Given the description of an element on the screen output the (x, y) to click on. 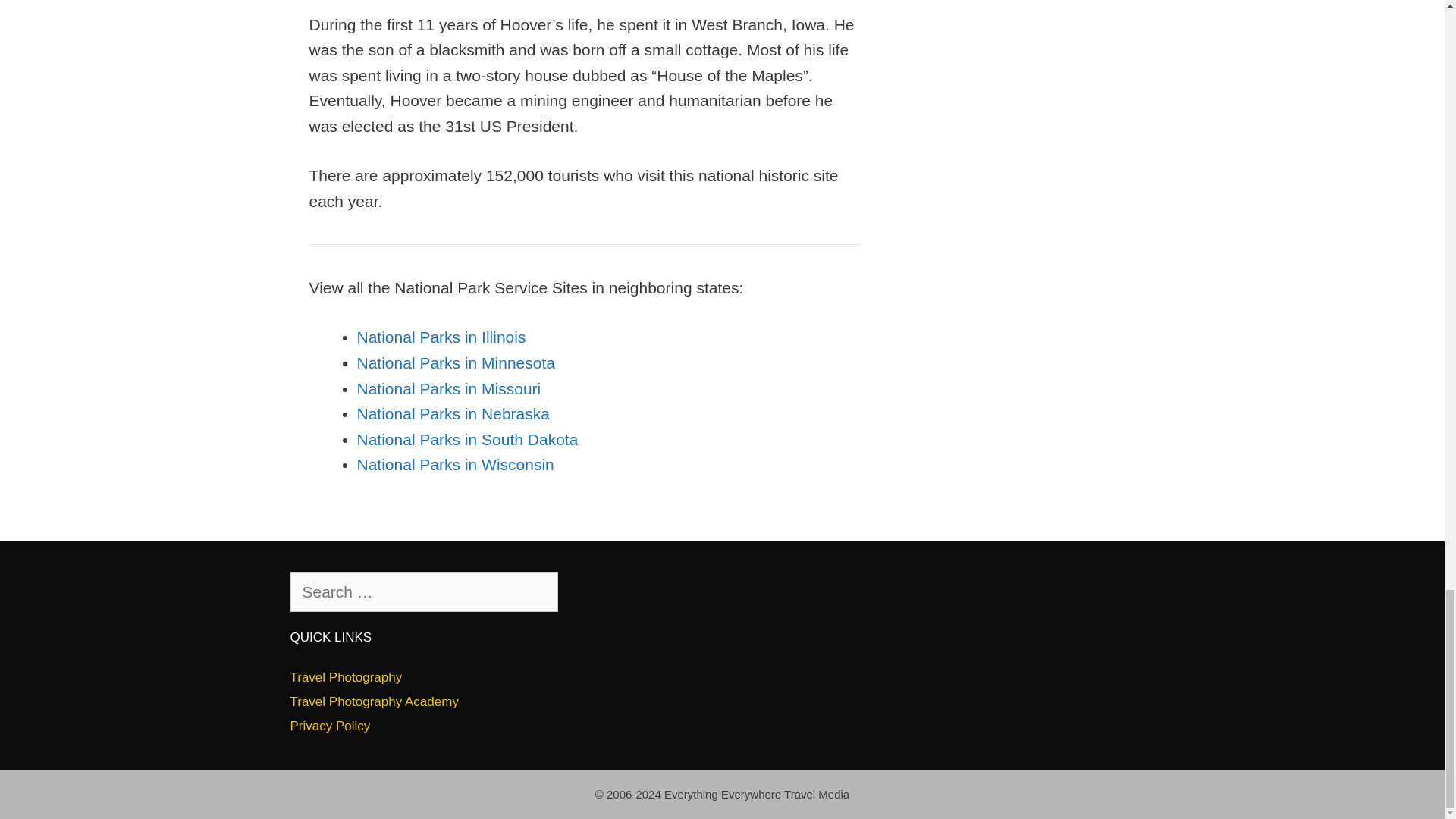
National Parks in Illinois (440, 336)
National Parks in South Dakota (467, 438)
Travel Photography (345, 677)
National Parks in Wisconsin (454, 464)
Privacy Policy (329, 726)
National Parks in Nebraska (452, 413)
National Parks in Missouri (448, 388)
Search for: (423, 590)
Travel Photography Academy (373, 701)
National Parks in Minnesota (455, 362)
